Given the description of an element on the screen output the (x, y) to click on. 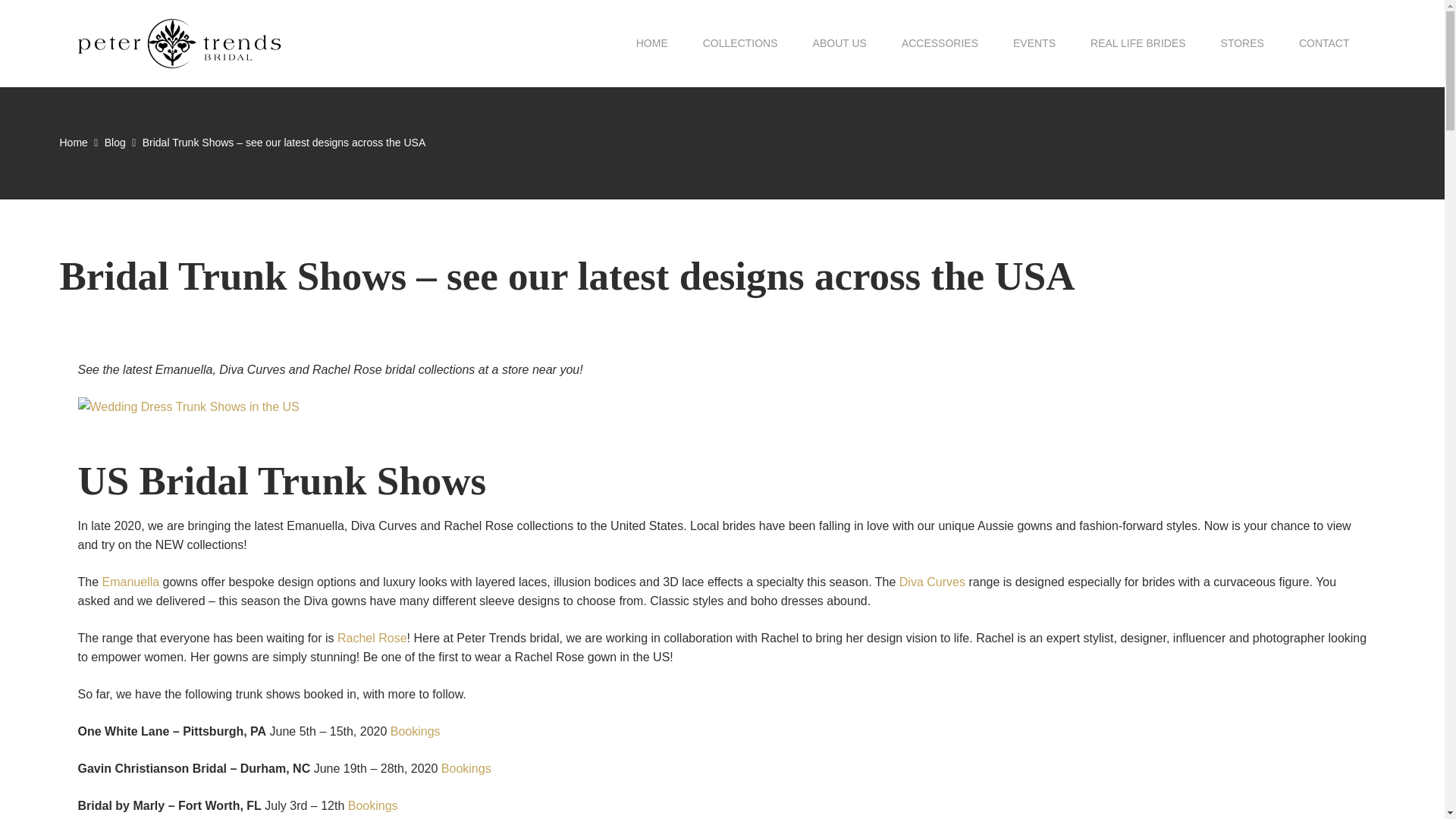
ACCESSORIES (939, 43)
Bookings (372, 805)
Bookings (415, 730)
REAL LIFE BRIDES (1138, 43)
ABOUT US (838, 43)
Home (73, 142)
Emanuella (130, 581)
Bookings (466, 768)
Blog (114, 142)
STORES (1242, 43)
COLLECTIONS (739, 43)
CONTACT (1324, 43)
Rachel Rose (372, 637)
Diva Curves (932, 581)
